Given the description of an element on the screen output the (x, y) to click on. 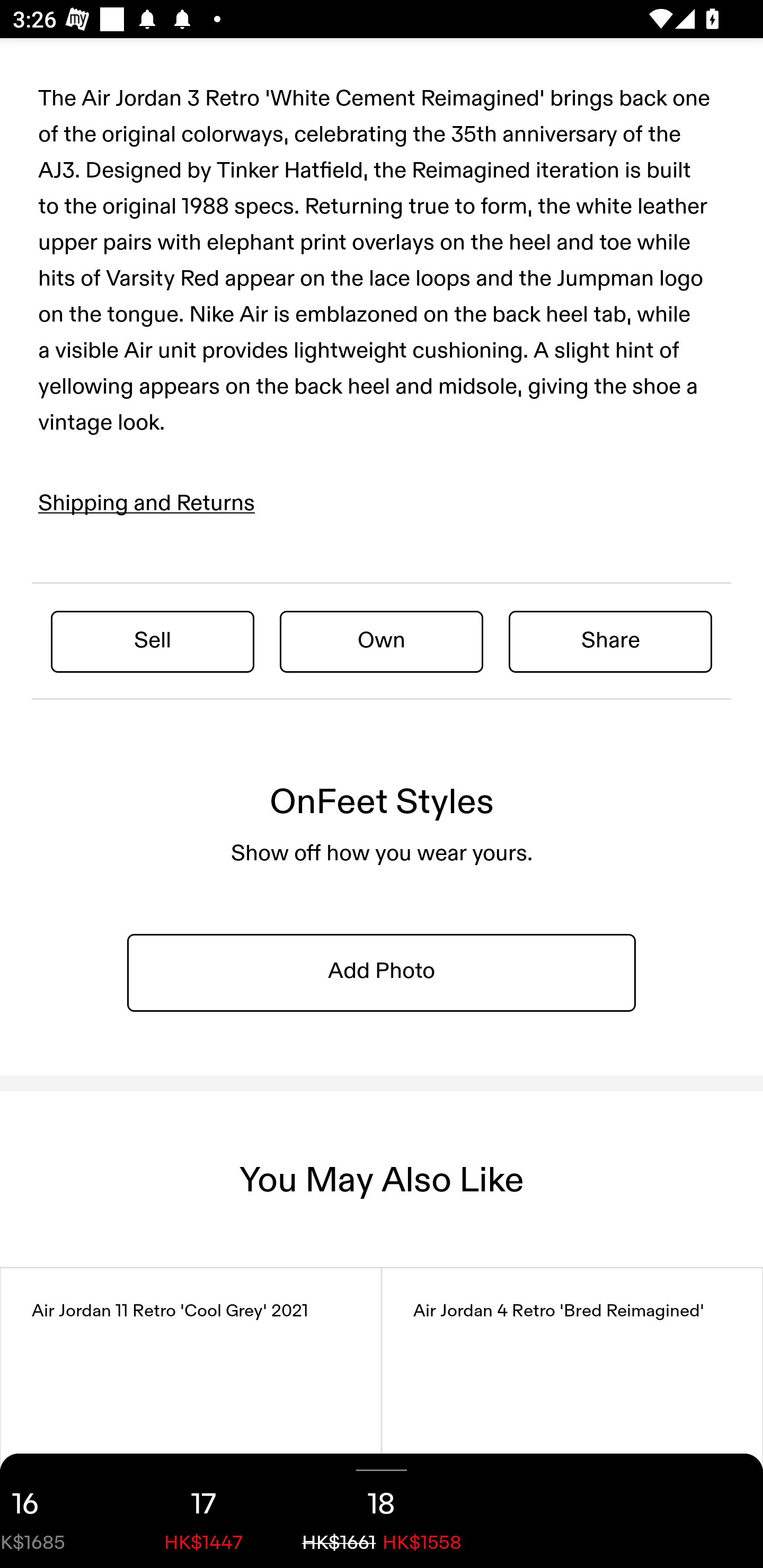
Shipping and Returns (146, 503)
Sell (152, 640)
Own (381, 640)
Share (609, 640)
Add Photo (381, 971)
Air Jordan 11 Retro 'Cool Grey' 2021 (190, 1417)
Air Jordan 4 Retro 'Bred Reimagined' (572, 1417)
16 HK$1685 (57, 1510)
17 HK$1447 (203, 1510)
18 HK$1661 HK$1558 (381, 1510)
